Given the description of an element on the screen output the (x, y) to click on. 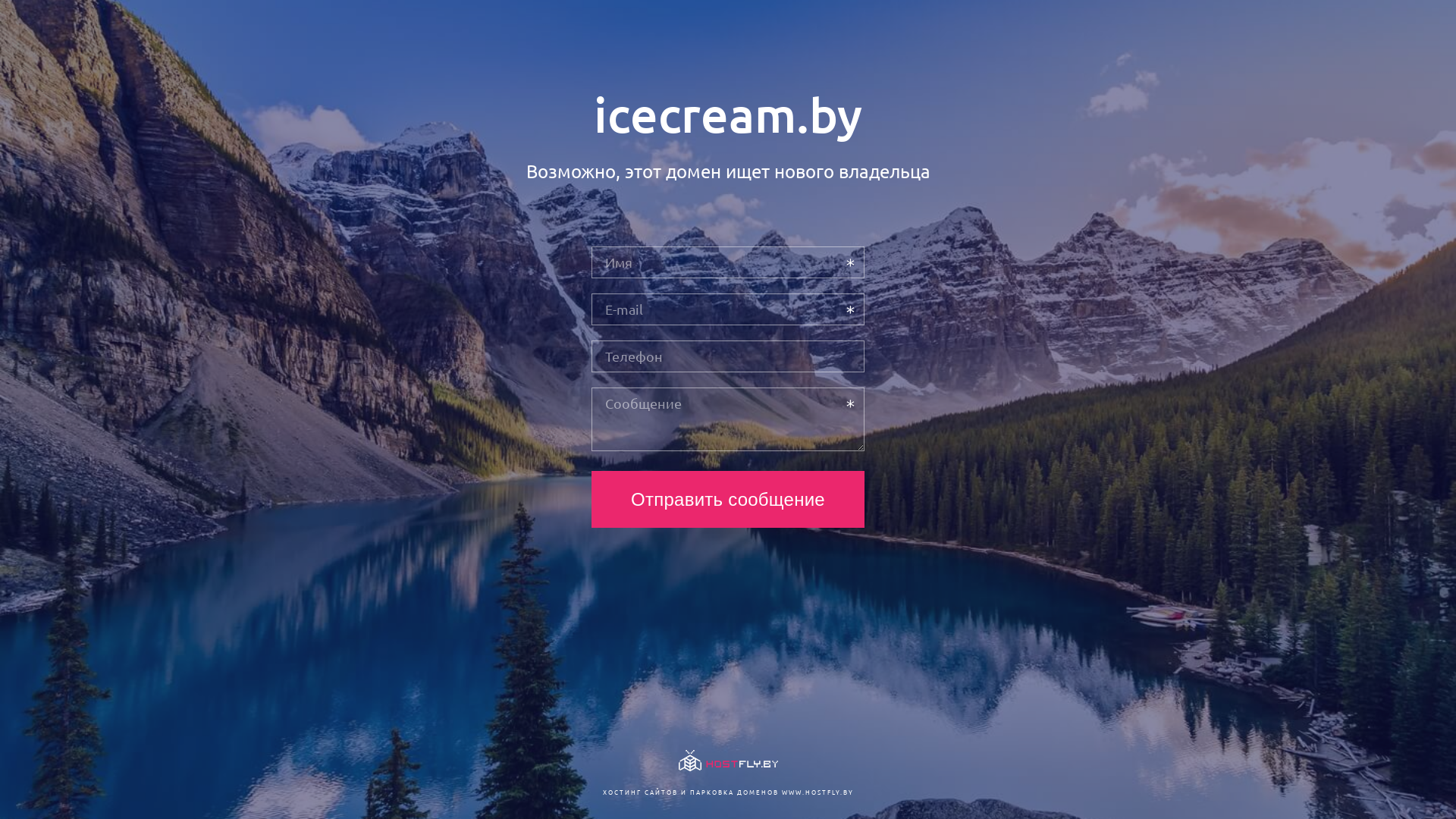
WWW.HOSTFLY.BY Element type: text (817, 791)
